Given the description of an element on the screen output the (x, y) to click on. 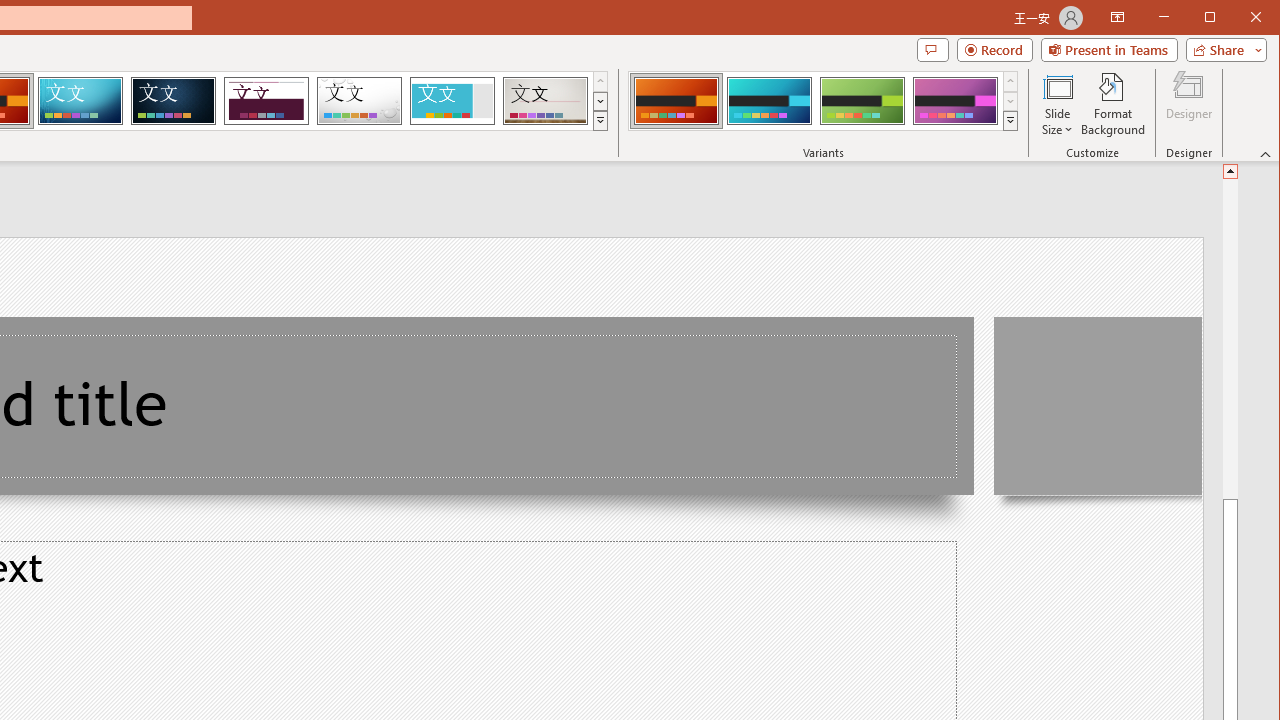
Berlin Variant 2 (769, 100)
Berlin Variant 4 (955, 100)
Berlin Variant 3 (862, 100)
Berlin Variant 1 (676, 100)
Circuit (80, 100)
